Given the description of an element on the screen output the (x, y) to click on. 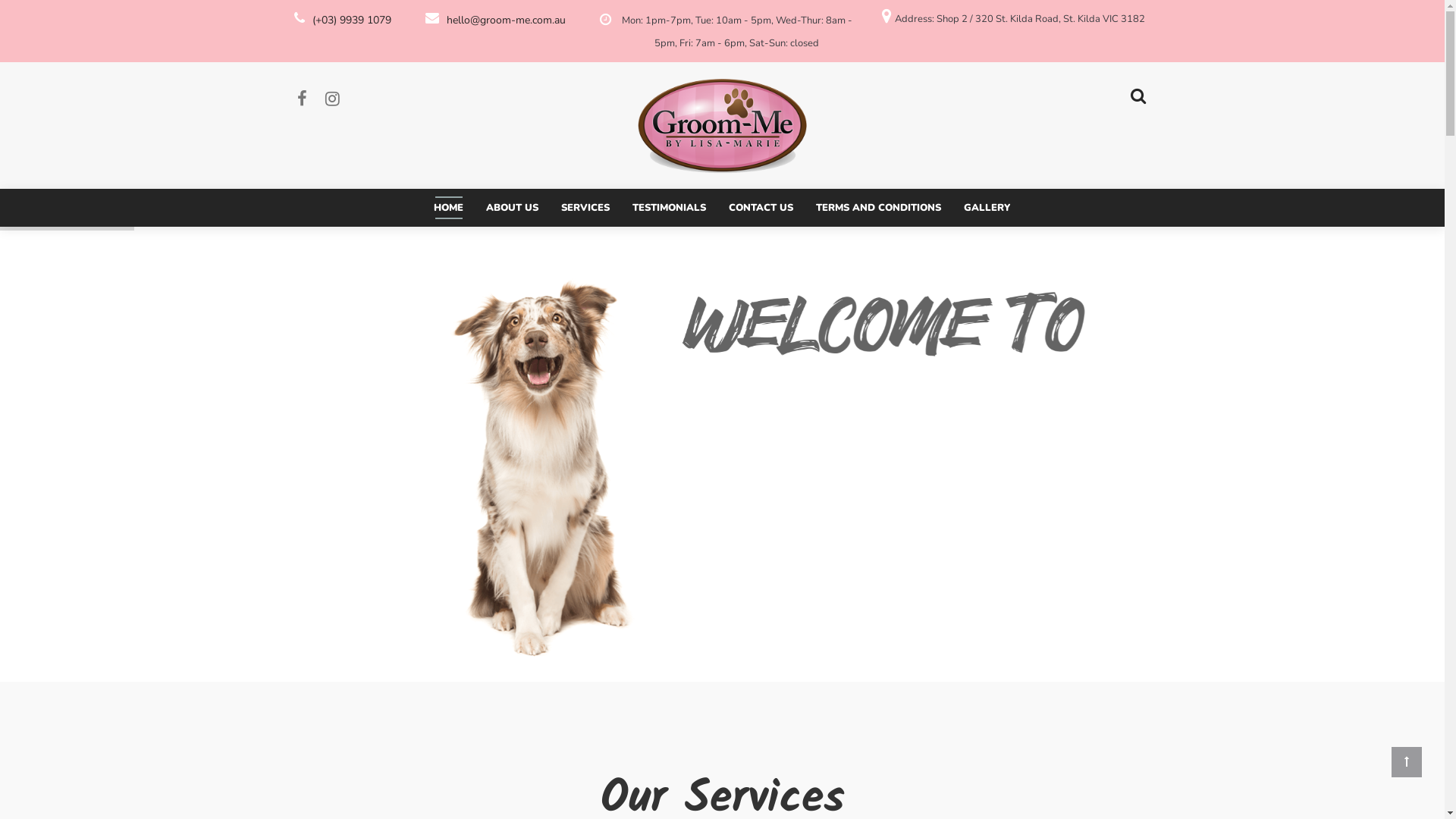
HOME Element type: text (448, 207)
SERVICES Element type: text (585, 207)
TERMS AND CONDITIONS Element type: text (878, 207)
GALLERY Element type: text (987, 207)
ABOUT US Element type: text (511, 207)
TESTIMONIALS Element type: text (669, 207)
CONTACT US Element type: text (760, 207)
